Given the description of an element on the screen output the (x, y) to click on. 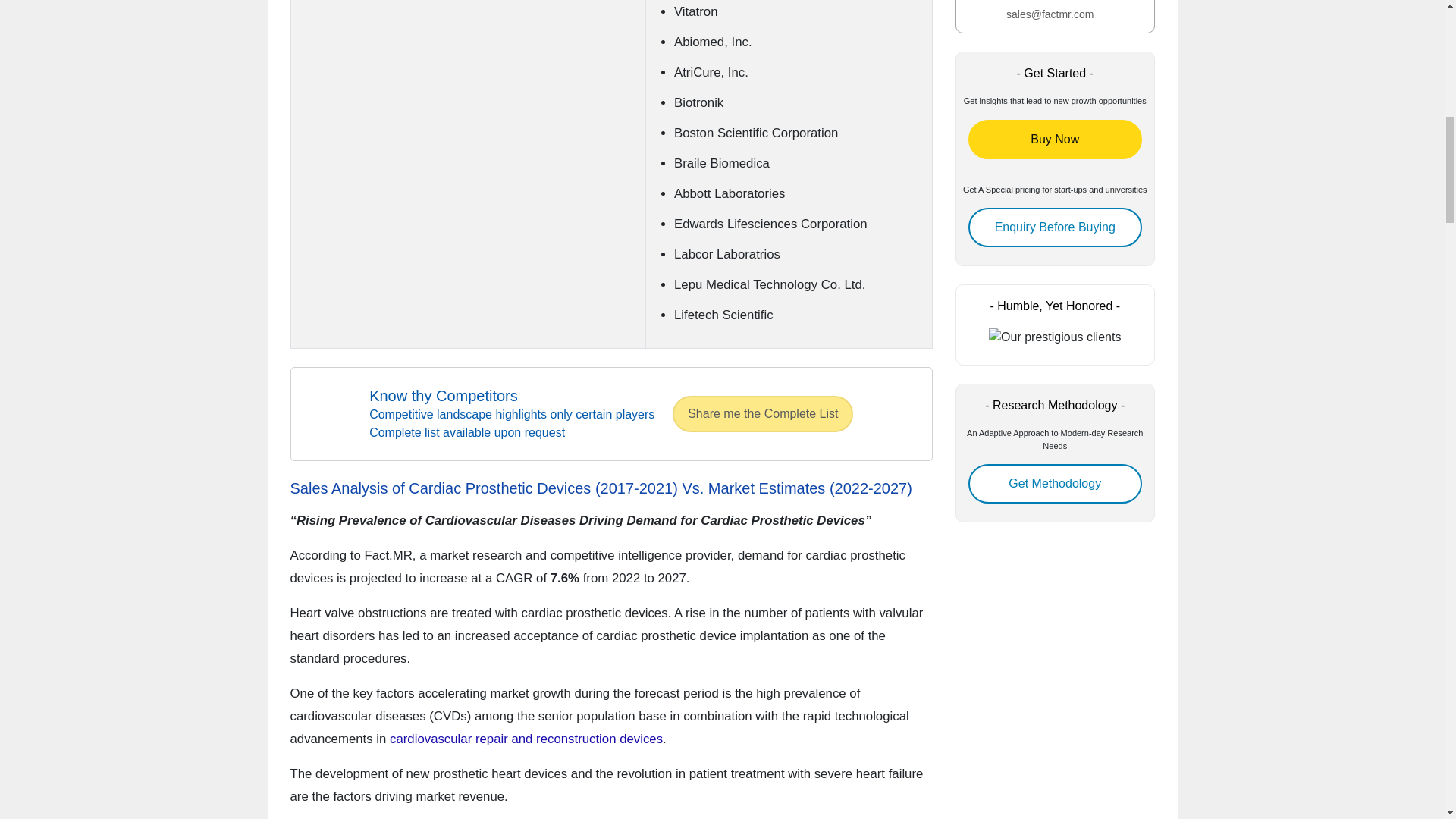
Buy Now (1054, 138)
cardiovascular repair and reconstruction devices (526, 739)
Enquiry Before Buying (1054, 227)
Share me the Complete List (762, 413)
